Given the description of an element on the screen output the (x, y) to click on. 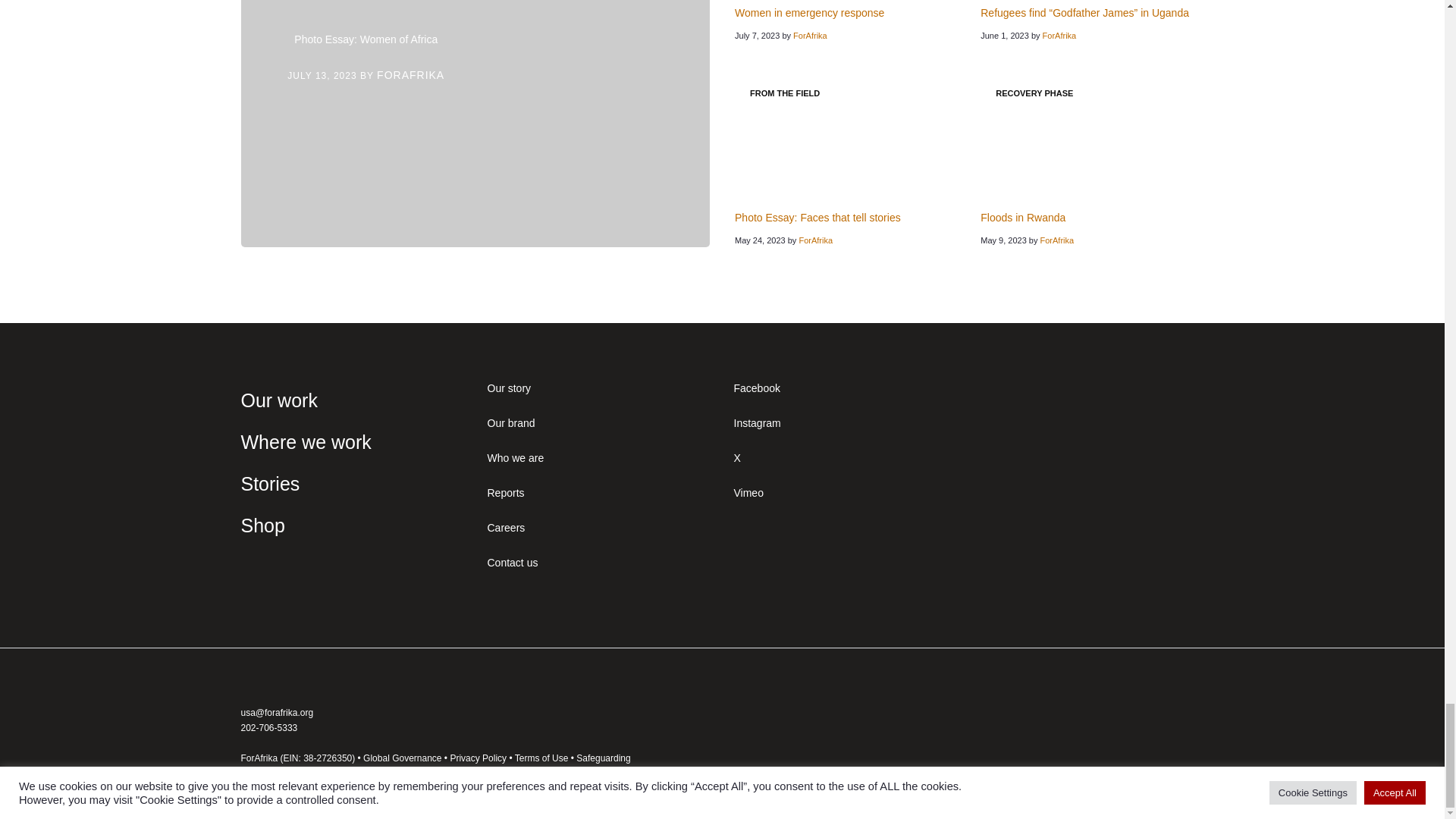
FORAFRIKA (410, 74)
ForAfrika (810, 35)
Women in emergency response (809, 12)
Women of Africa (475, 123)
Photo Essay: Women of Africa (366, 39)
